Given the description of an element on the screen output the (x, y) to click on. 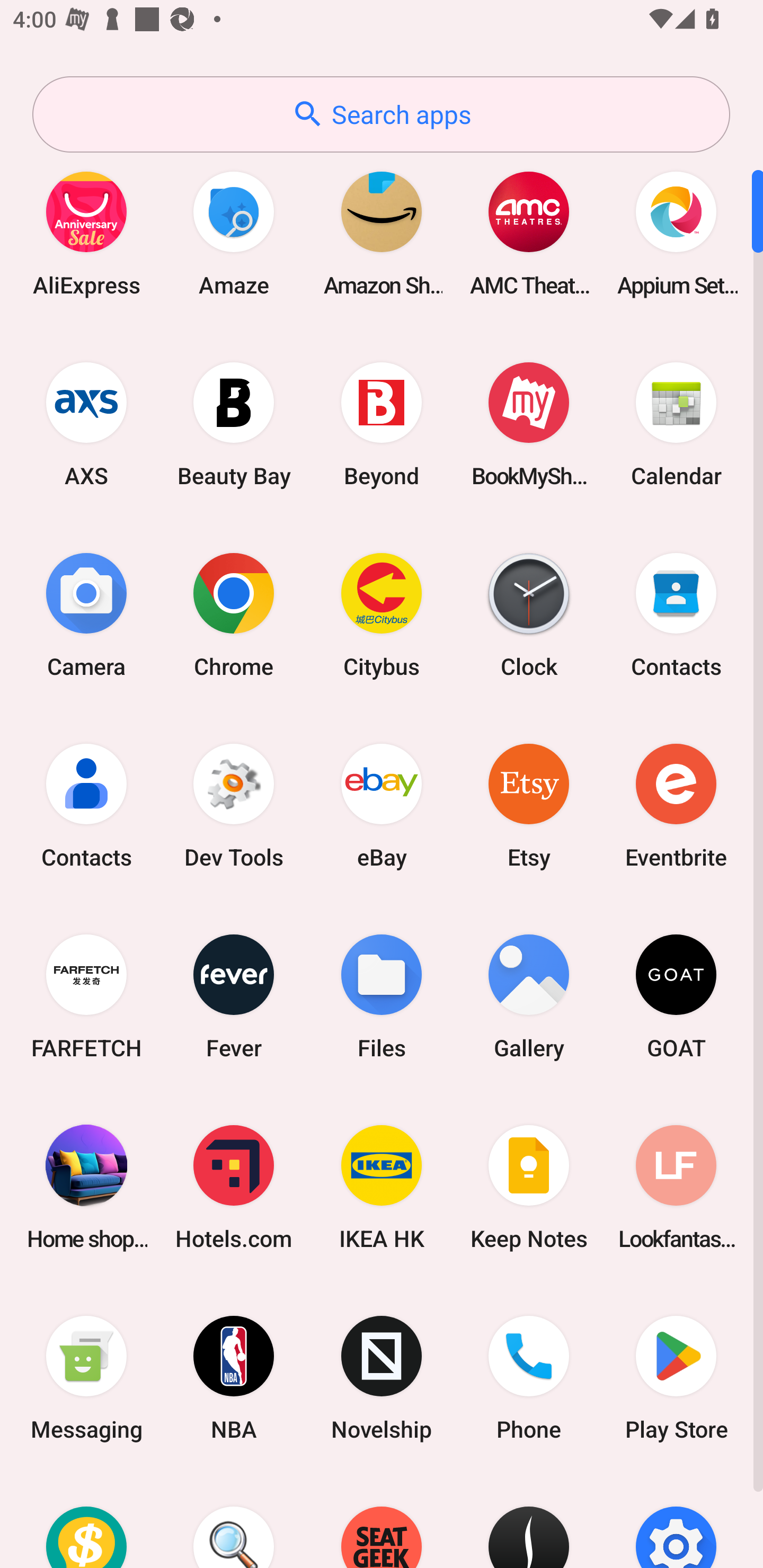
  Search apps (381, 114)
AliExpress (86, 233)
Amaze (233, 233)
Amazon Shopping (381, 233)
AMC Theatres (528, 233)
Appium Settings (676, 233)
AXS (86, 424)
Beauty Bay (233, 424)
Beyond (381, 424)
BookMyShow (528, 424)
Calendar (676, 424)
Camera (86, 614)
Chrome (233, 614)
Citybus (381, 614)
Clock (528, 614)
Contacts (676, 614)
Contacts (86, 805)
Dev Tools (233, 805)
eBay (381, 805)
Etsy (528, 805)
Eventbrite (676, 805)
FARFETCH (86, 996)
Fever (233, 996)
Files (381, 996)
Gallery (528, 996)
GOAT (676, 996)
Home shopping (86, 1186)
Hotels.com (233, 1186)
IKEA HK (381, 1186)
Keep Notes (528, 1186)
Lookfantastic (676, 1186)
Messaging (86, 1377)
NBA (233, 1377)
Novelship (381, 1377)
Phone (528, 1377)
Play Store (676, 1377)
